Given the description of an element on the screen output the (x, y) to click on. 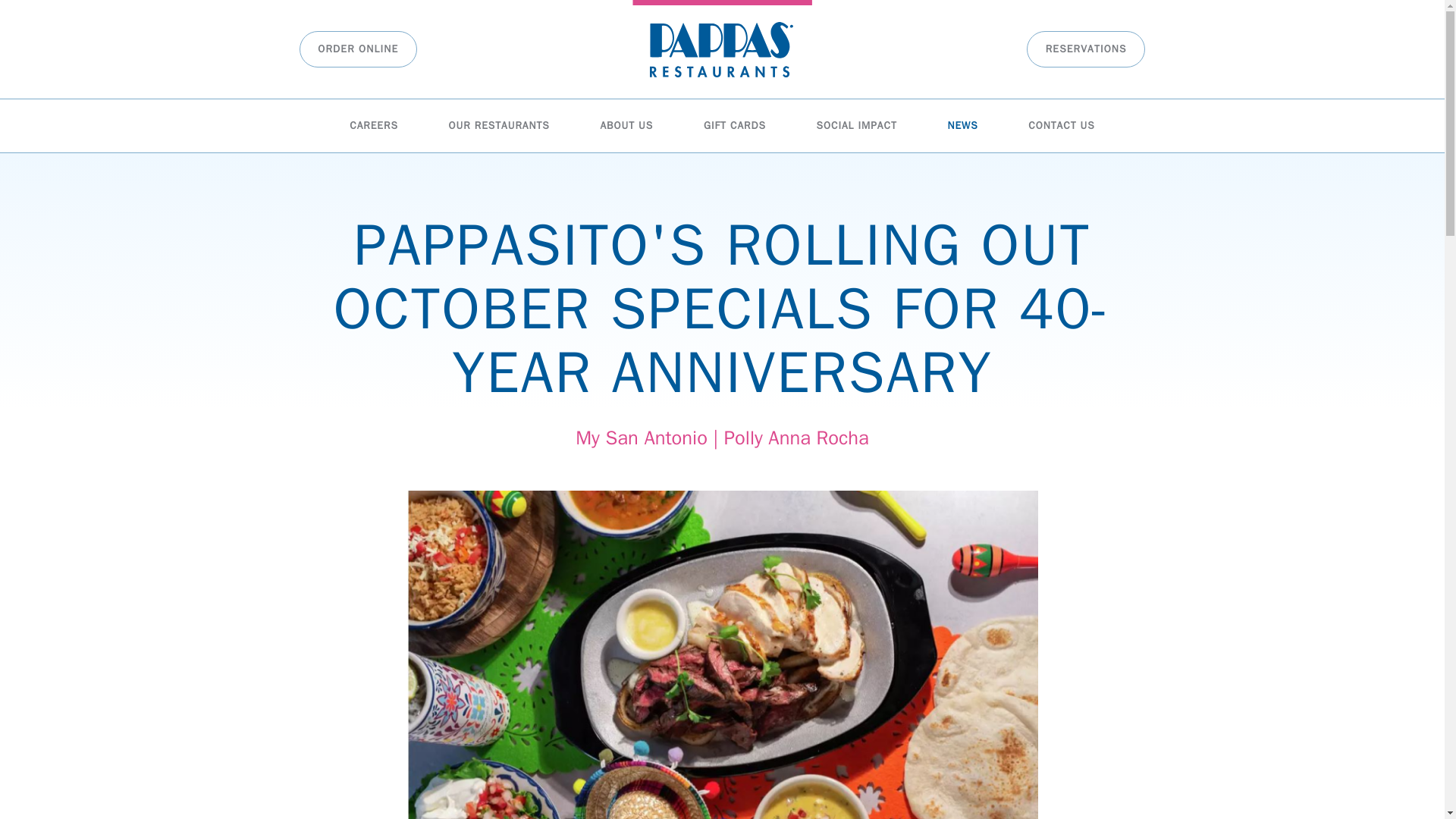
CONTACT US (1060, 124)
GIFT CARDS (734, 124)
OUR RESTAURANTS (499, 124)
ORDER ONLINE (357, 49)
ABOUT US (625, 124)
NEWS (961, 124)
CAREERS (373, 124)
RESERVATIONS (1085, 49)
SOCIAL IMPACT (856, 124)
